Given the description of an element on the screen output the (x, y) to click on. 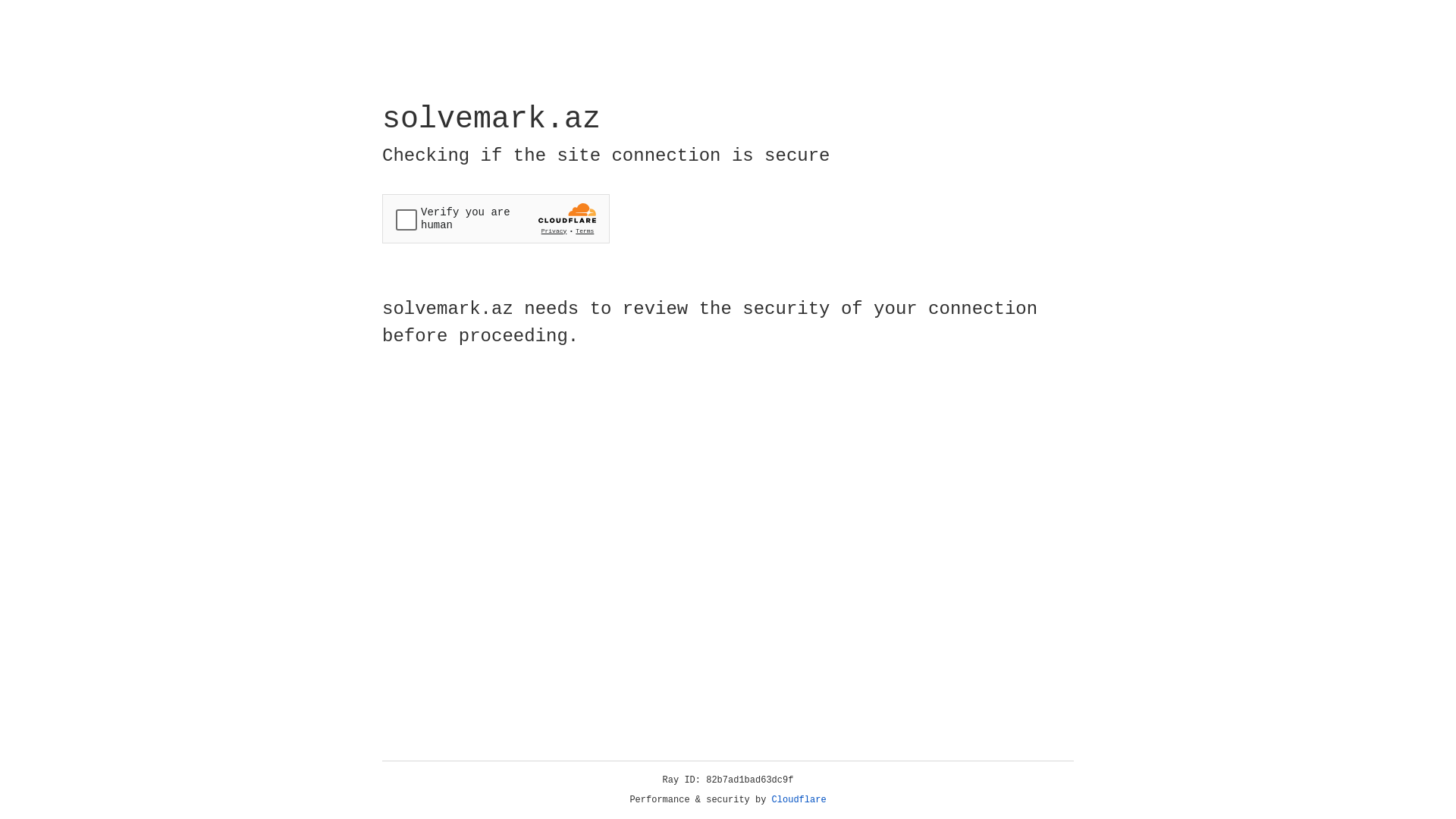
Cloudflare Element type: text (798, 799)
Widget containing a Cloudflare security challenge Element type: hover (495, 218)
